Given the description of an element on the screen output the (x, y) to click on. 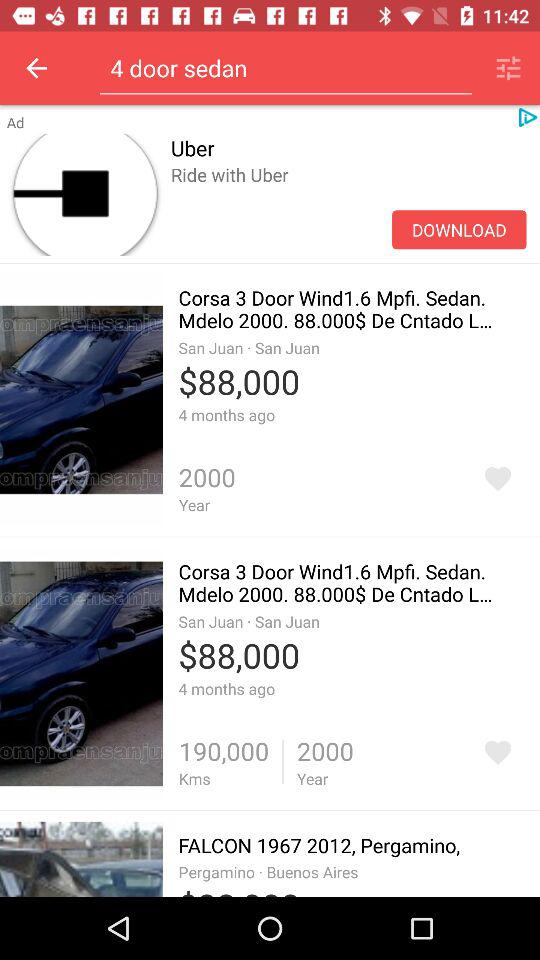
turn on item above corsa 3 door icon (348, 195)
